Given the description of an element on the screen output the (x, y) to click on. 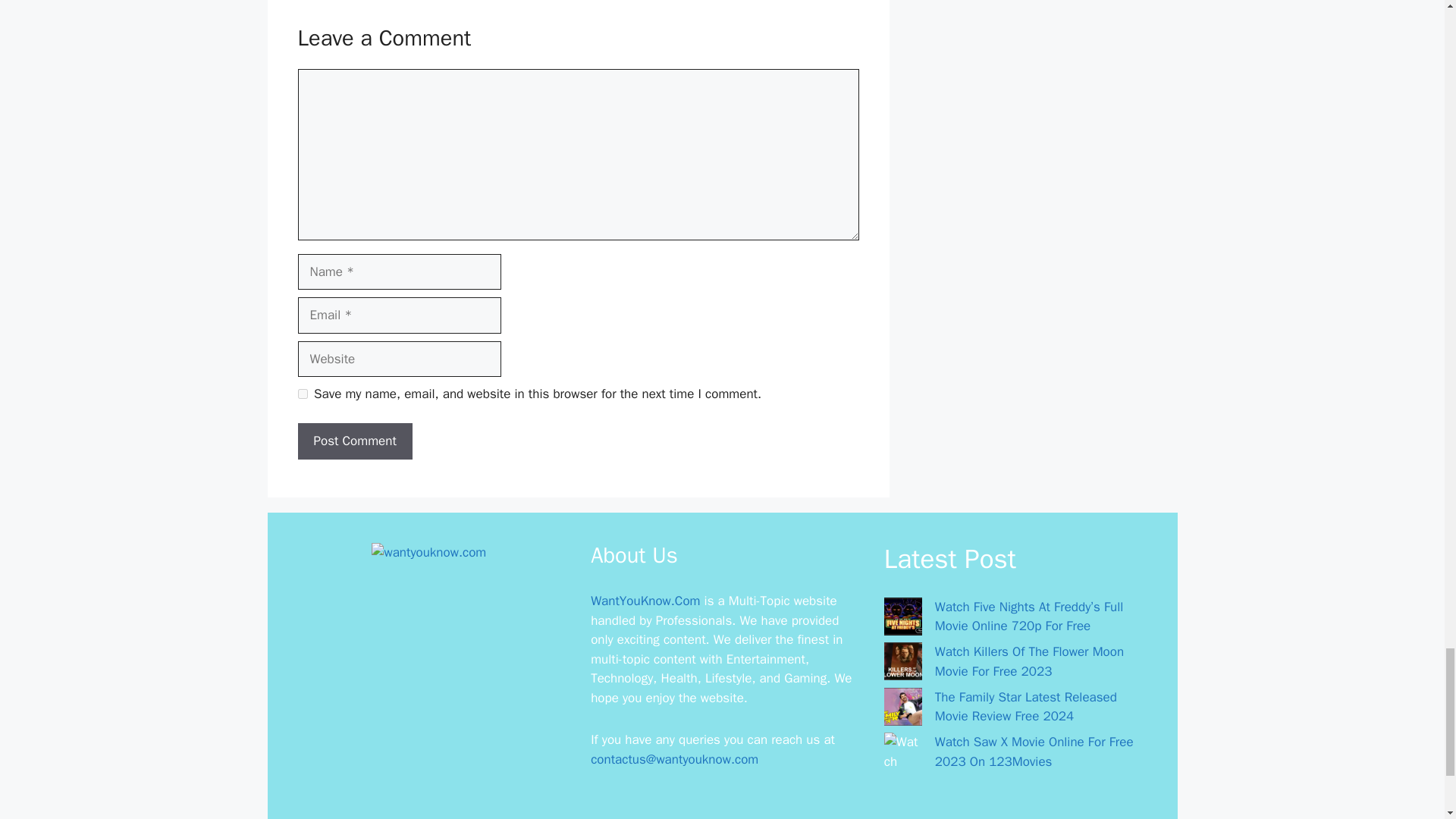
Post Comment (354, 441)
Post Comment (354, 441)
yes (302, 393)
